Given the description of an element on the screen output the (x, y) to click on. 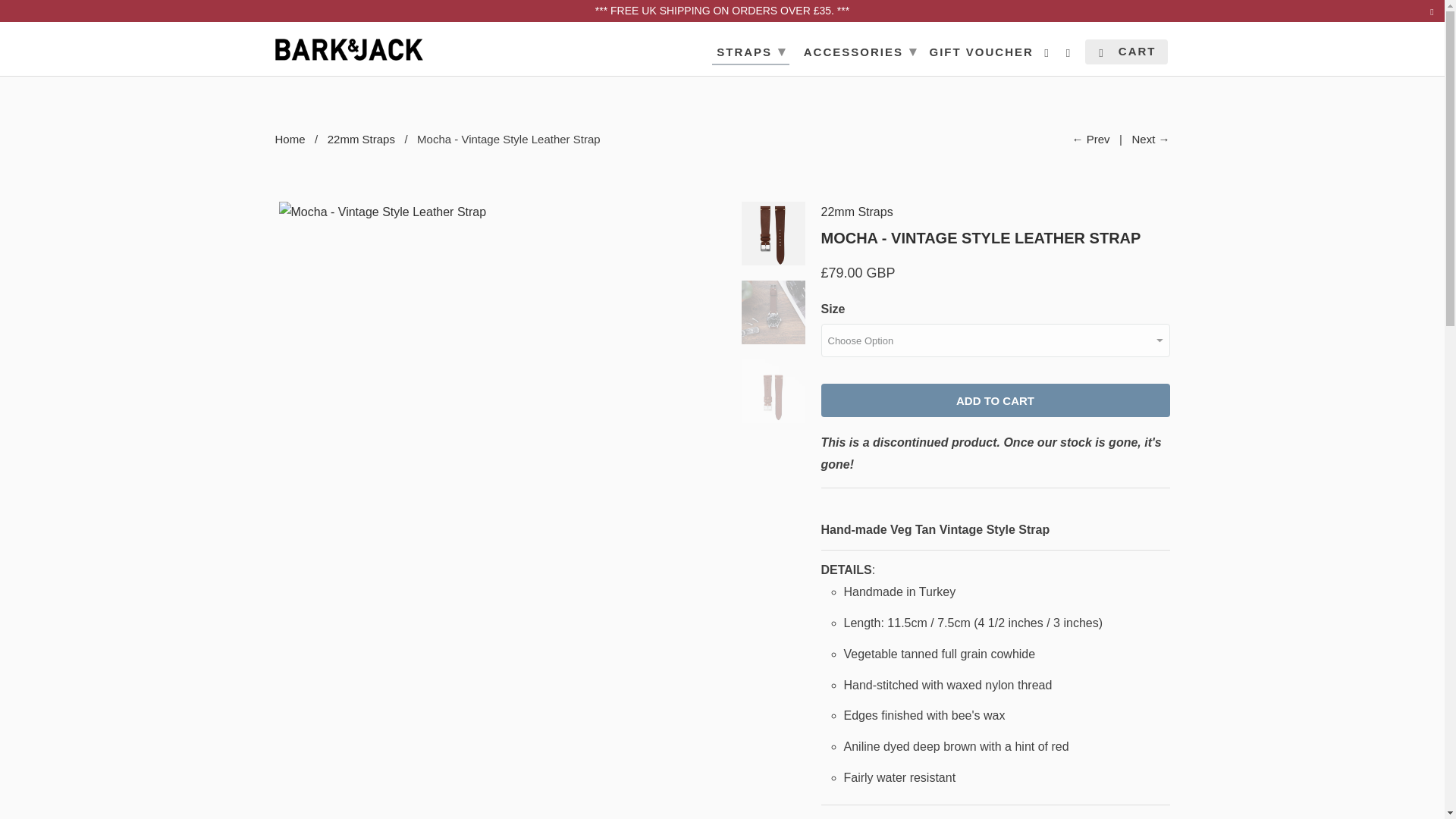
22mm Straps (360, 138)
